Given the description of an element on the screen output the (x, y) to click on. 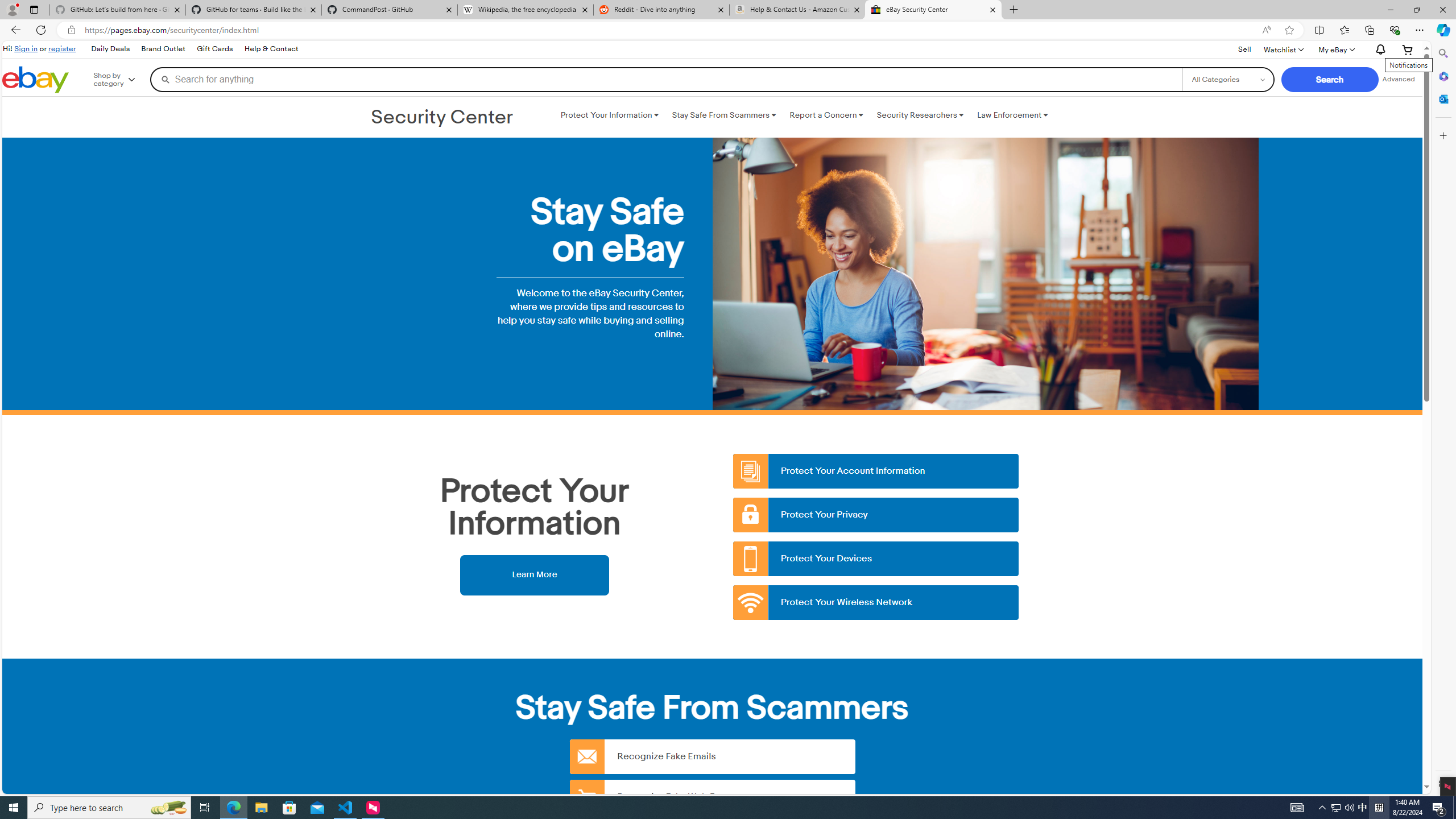
Security Researchers  (919, 115)
Brand Outlet (163, 49)
Protect Your Information  (608, 115)
Daily Deals (109, 49)
AutomationID: gh-eb-Alerts (1378, 49)
Learn More (534, 574)
Security Center (442, 117)
Protect Your Privacy (876, 514)
Law Enforcement  (1012, 115)
Help & Contact (271, 49)
